Given the description of an element on the screen output the (x, y) to click on. 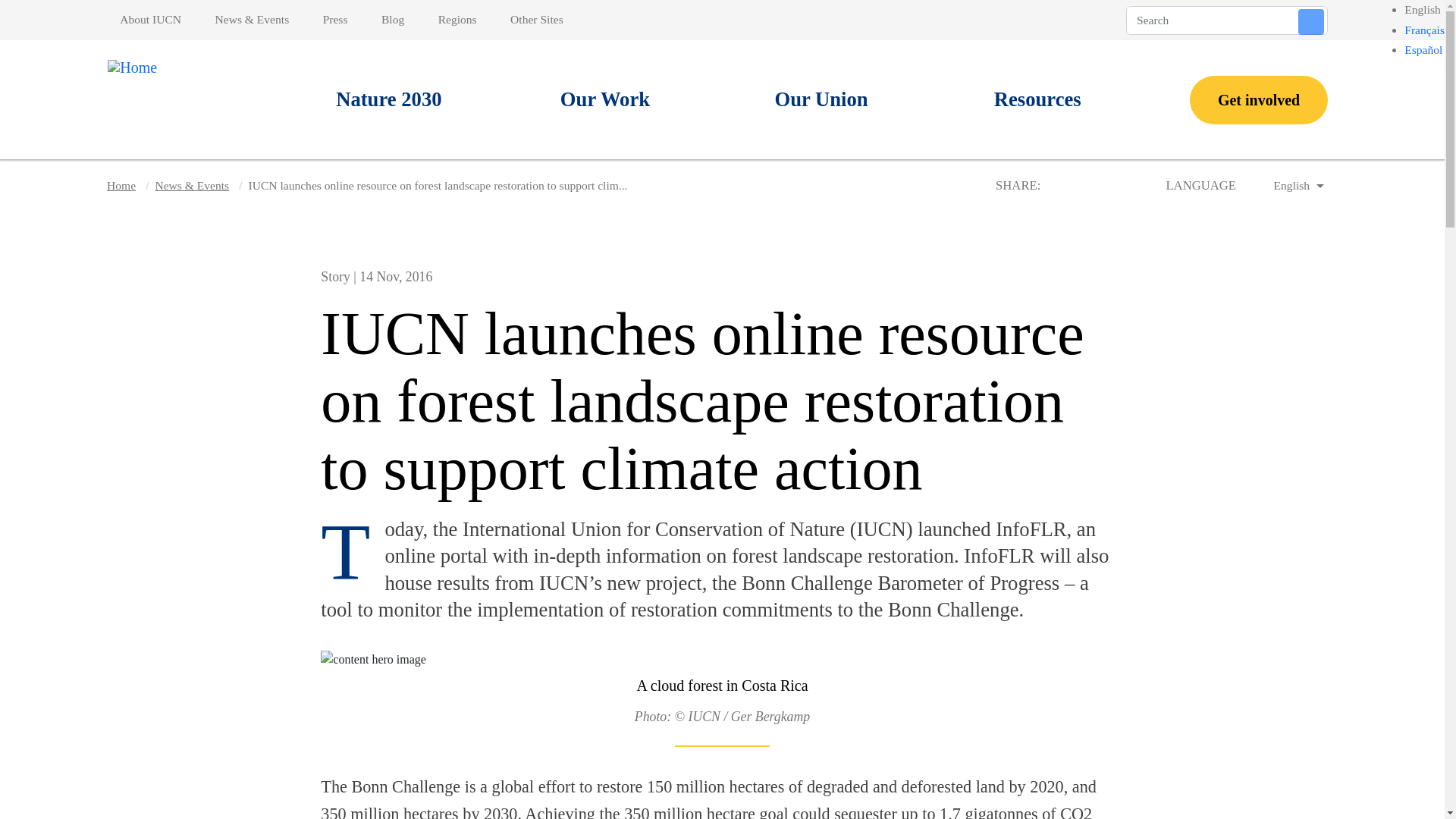
Press (334, 20)
Blog (393, 20)
Regions (456, 20)
Other Sites (536, 20)
Nature 2030 (389, 99)
Home (151, 99)
About IUCN (152, 20)
